Given the description of an element on the screen output the (x, y) to click on. 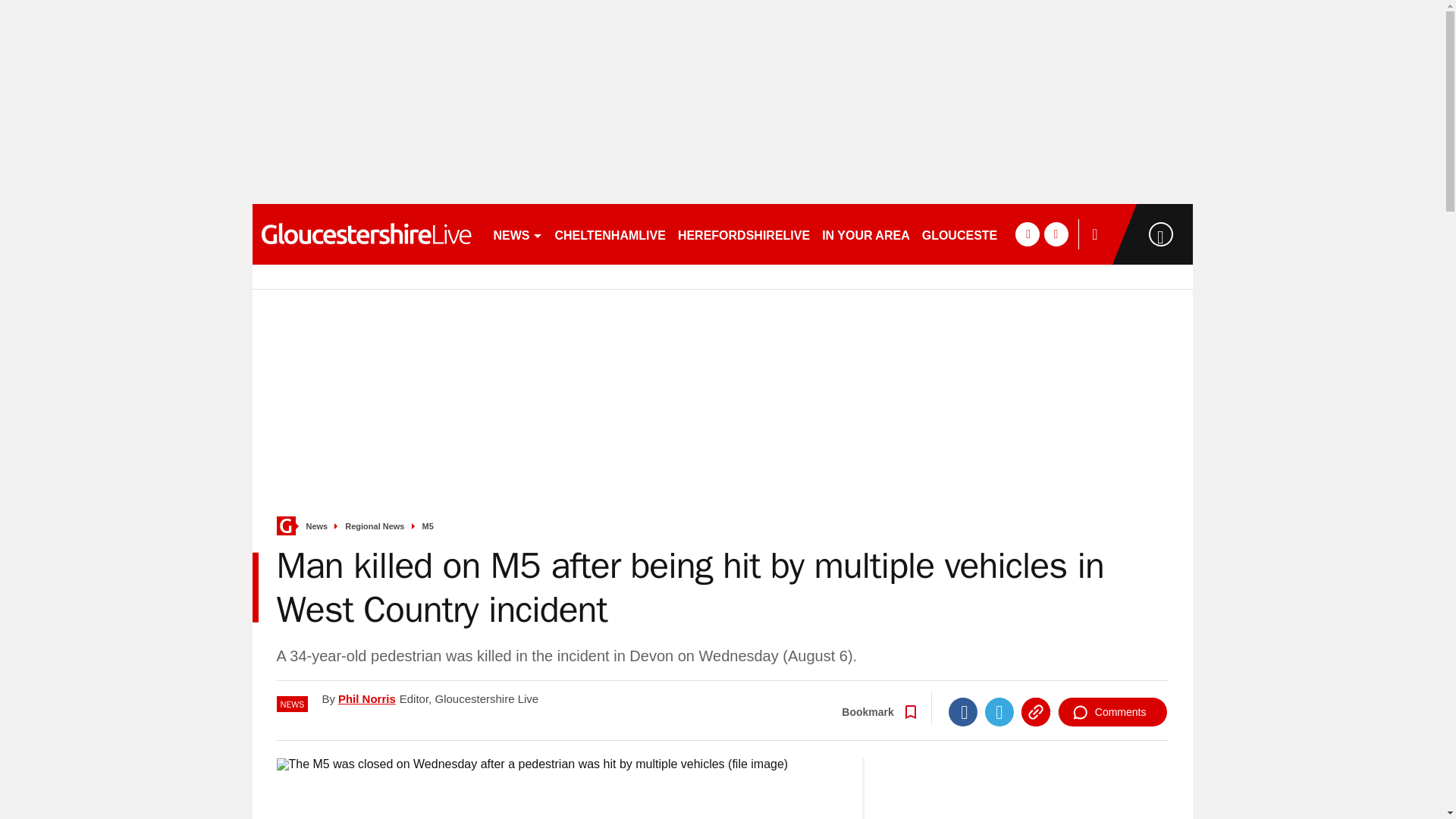
Facebook (962, 711)
NEWS (517, 233)
Twitter (999, 711)
twitter (1055, 233)
Comments (1112, 711)
IN YOUR AREA (865, 233)
GLOUCESTER NEWS (983, 233)
HEREFORDSHIRELIVE (743, 233)
facebook (1026, 233)
gloucestershirelive (365, 233)
CHELTENHAMLIVE (609, 233)
